Given the description of an element on the screen output the (x, y) to click on. 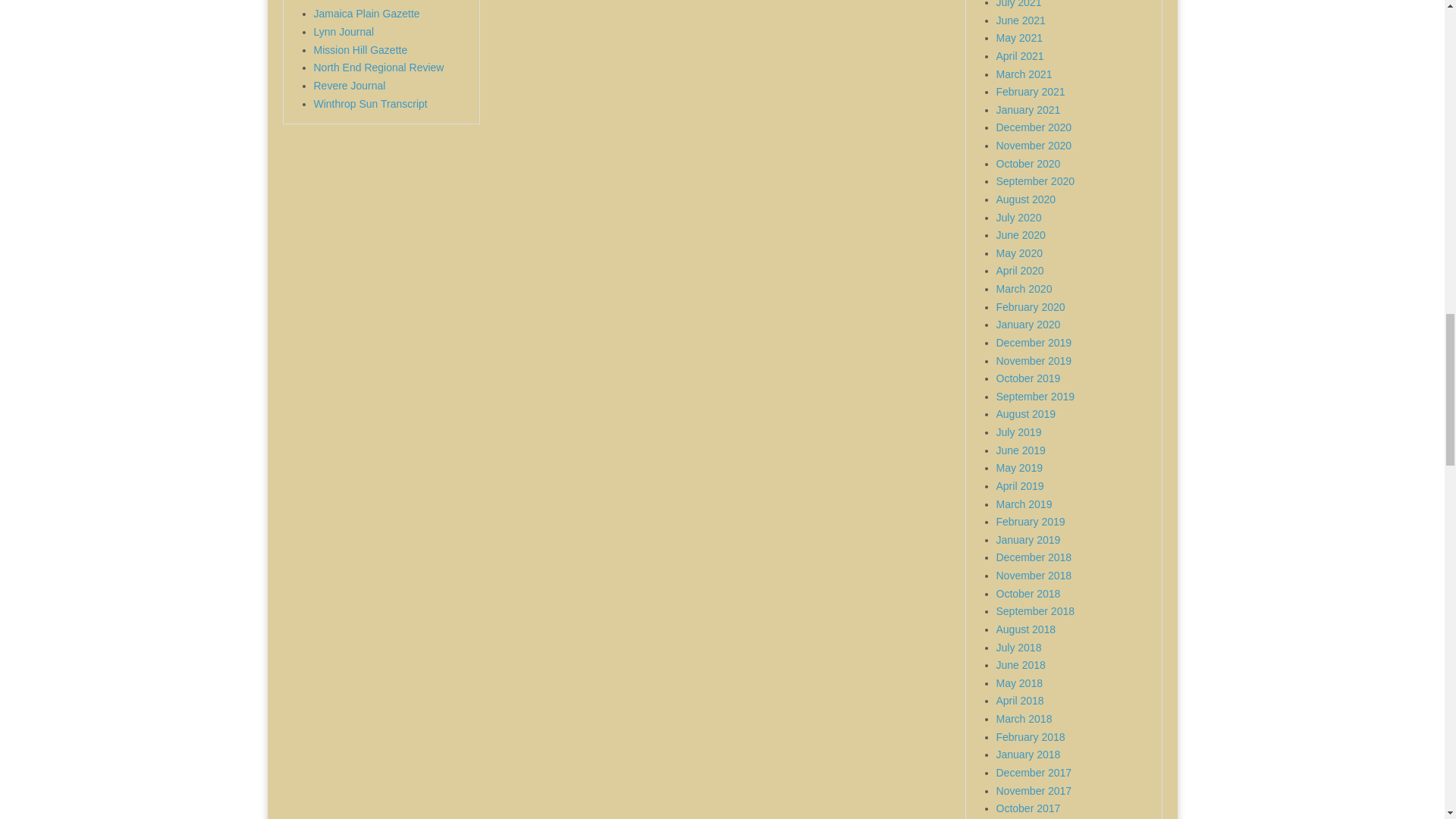
East Boston Times Free Press (385, 1)
Jamaica Plain Gazette (367, 13)
Lynn Journal (344, 31)
